Given the description of an element on the screen output the (x, y) to click on. 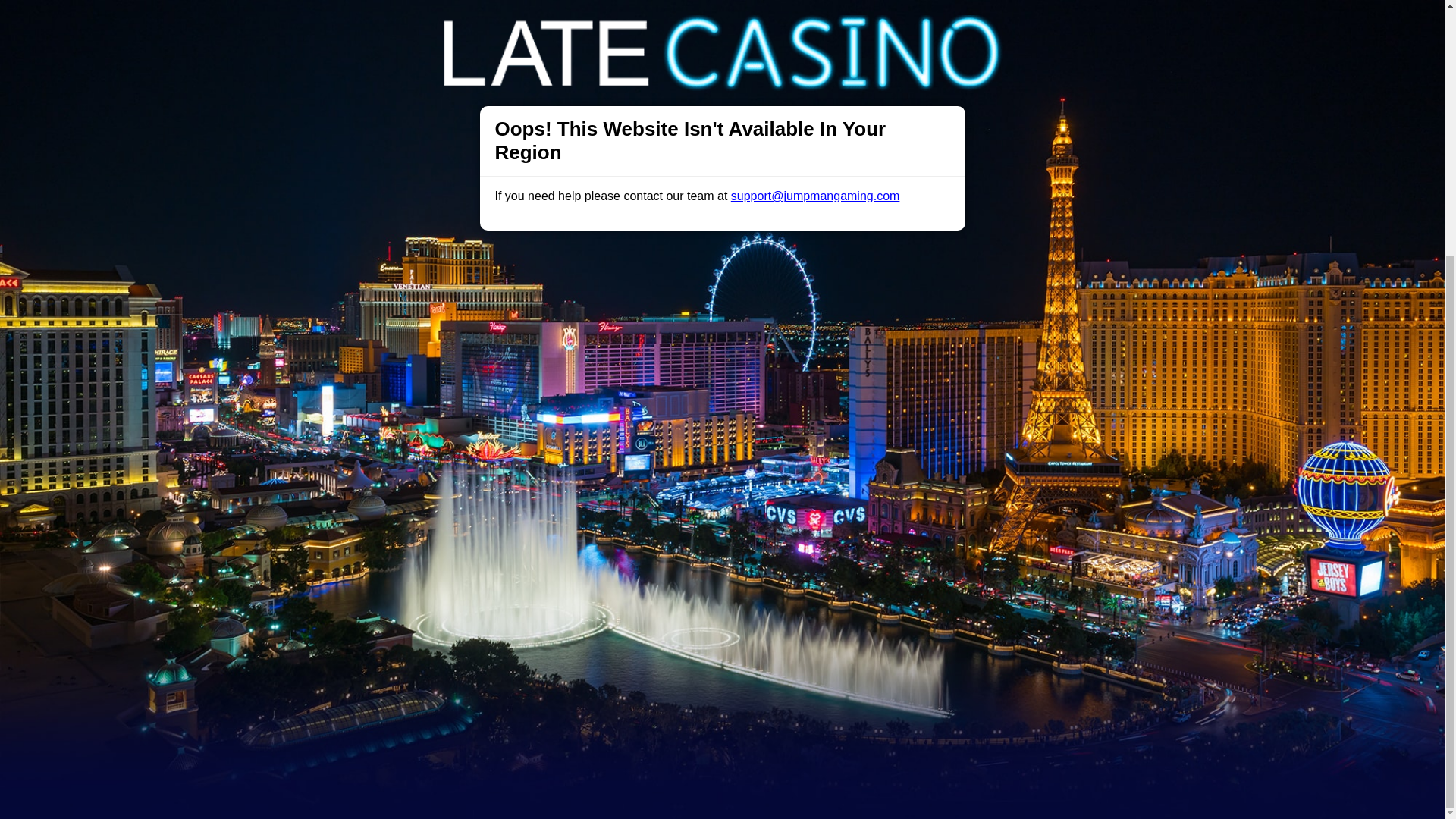
Responsible Gaming (407, 491)
39175 (997, 694)
Help (489, 491)
Back To All Games (721, 393)
www.jumpmancares.co.uk (738, 657)
Blog (738, 491)
Jumpman Gaming Limited (521, 694)
www.begambleaware.org (615, 657)
Privacy Policy (671, 491)
Affiliates (791, 491)
Back To All Games (722, 393)
